Given the description of an element on the screen output the (x, y) to click on. 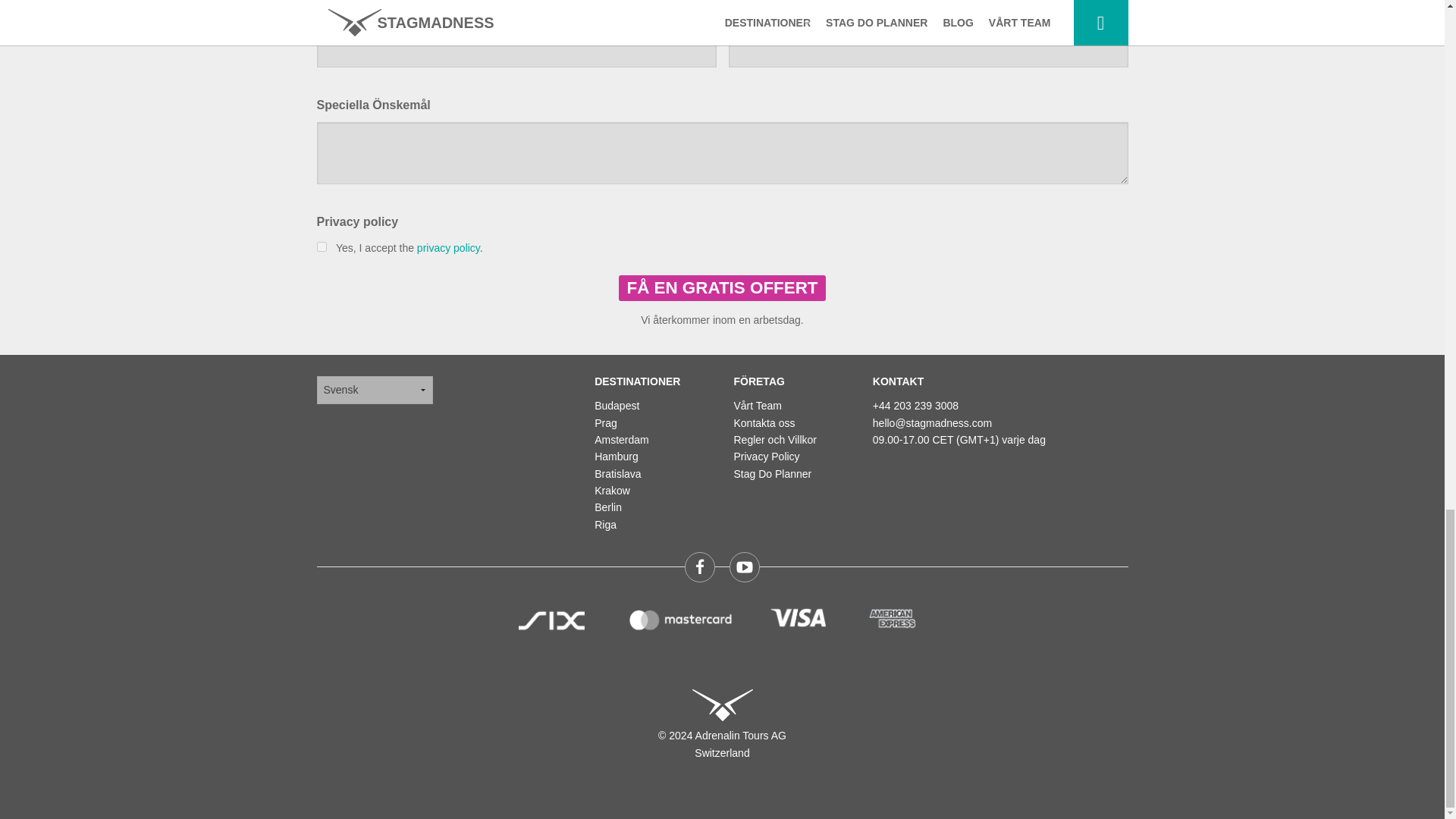
Our stag do organizer team in  (757, 405)
1 (321, 246)
Prag (605, 422)
Budapest (616, 405)
Amsterdam (621, 439)
privacy policy (448, 247)
